Given the description of an element on the screen output the (x, y) to click on. 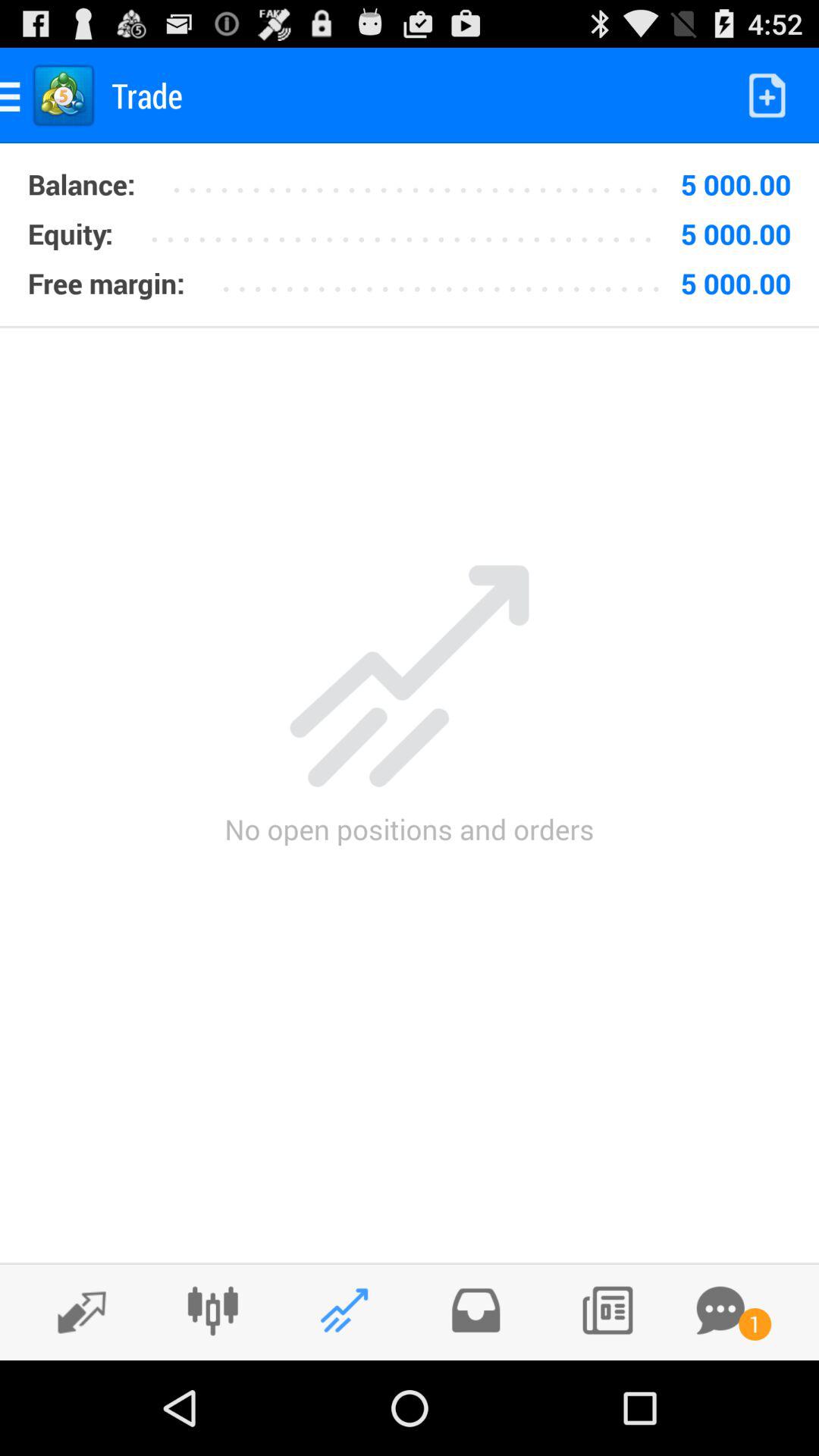
scroll until free margin: item (105, 283)
